Given the description of an element on the screen output the (x, y) to click on. 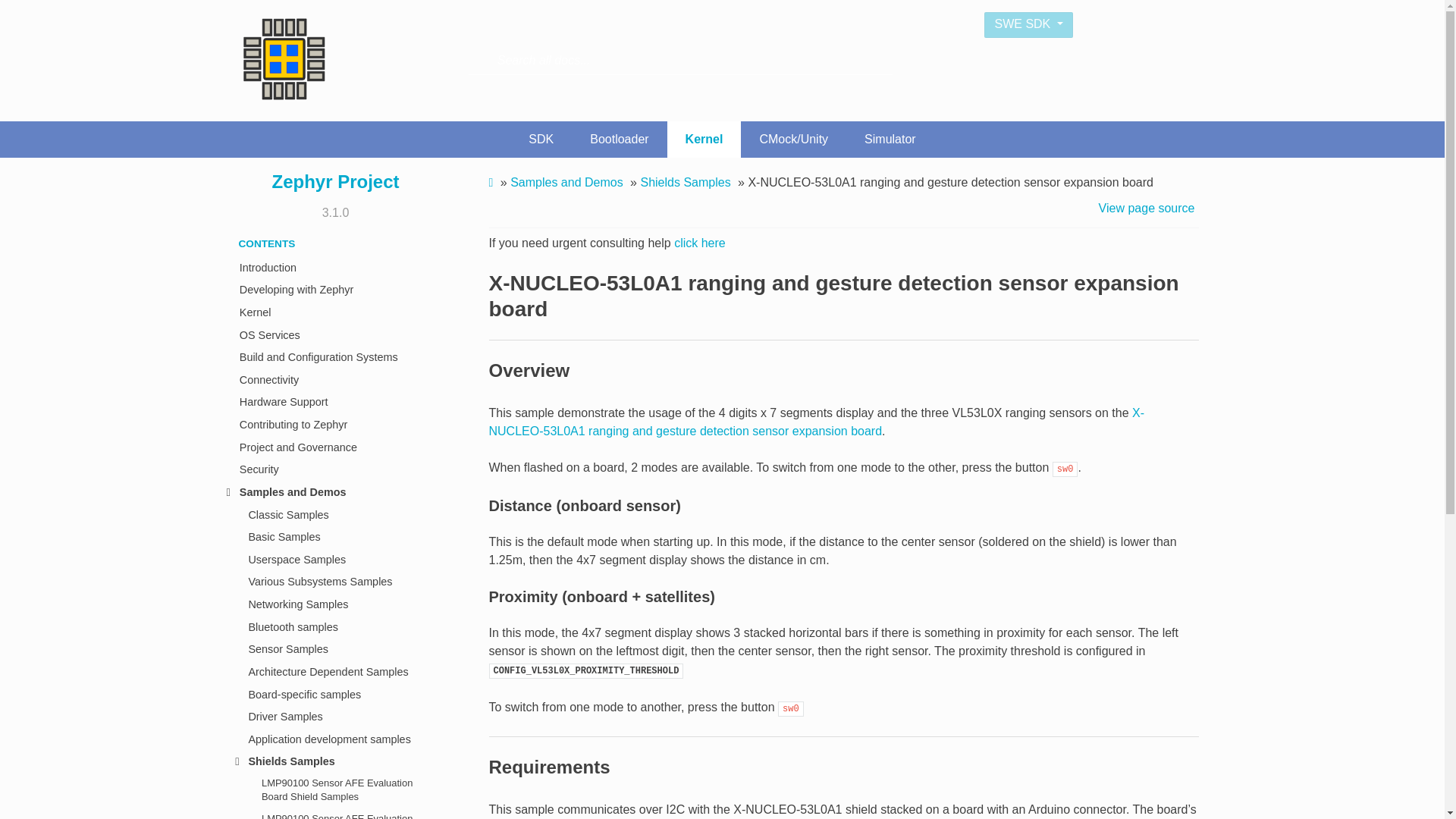
Bootloader (618, 139)
OS Services (334, 334)
Various Subsystems Samples (334, 581)
Security (334, 468)
Project and Governance (334, 446)
Bluetooth samples (334, 626)
SWE SDK (1027, 24)
Build and Configuration Systems (334, 356)
Developing with Zephyr (334, 290)
Hardware Support (334, 402)
